Given the description of an element on the screen output the (x, y) to click on. 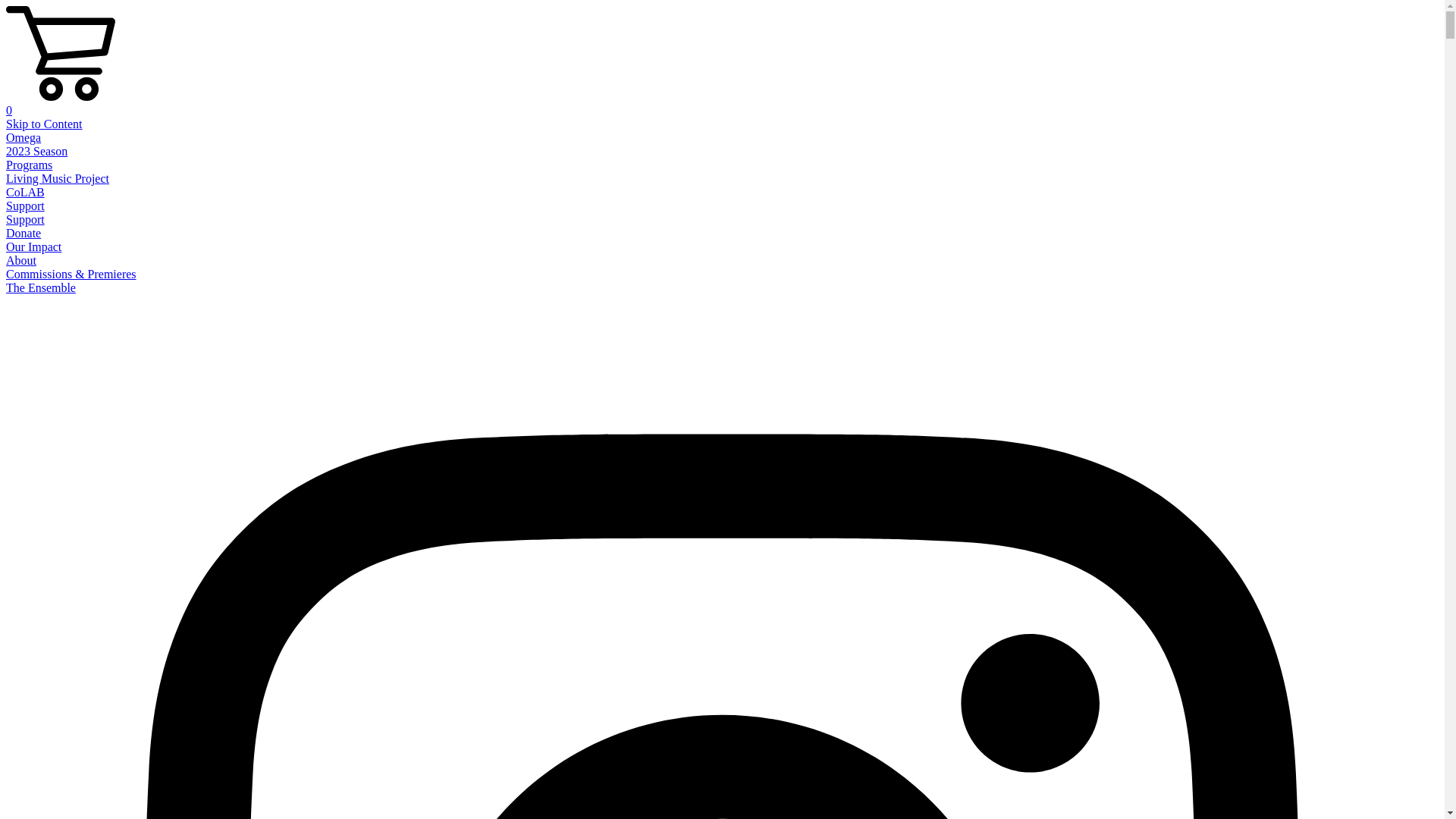
0 Element type: text (722, 103)
Living Music Project Element type: text (57, 178)
Omega Element type: text (23, 137)
Programs Element type: text (29, 164)
Our Impact Element type: text (33, 246)
Support Element type: text (25, 205)
Skip to Content Element type: text (43, 123)
2023 Season Element type: text (36, 150)
Donate Element type: text (23, 232)
Commissions & Premieres Element type: text (71, 273)
About Element type: text (21, 260)
CoLAB Element type: text (25, 191)
The Ensemble Element type: text (40, 287)
Support Element type: text (25, 219)
